Given the description of an element on the screen output the (x, y) to click on. 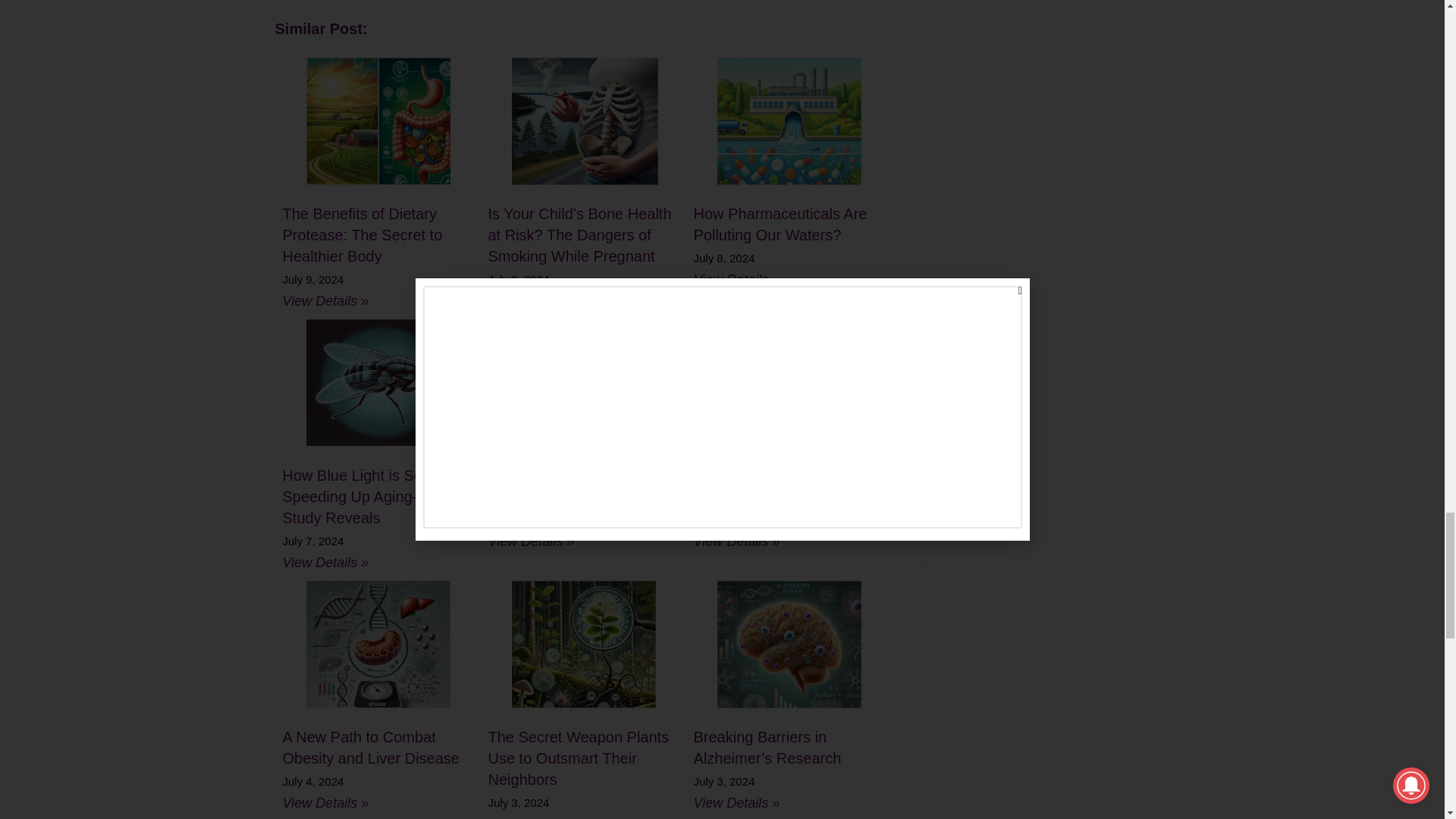
How Microbes Help Plants Shine Under Stress (785, 381)
How Pharmaceuticals Are Polluting Our Waters? (779, 224)
How Opioid Alters Brain Synapses Before Birth? (567, 485)
How Opioid Alters Brain Synapses Before Birth? (581, 381)
How Pharmaceuticals Are Polluting Our Waters? (785, 120)
A New Path to Combat Obesity and Liver Disease (375, 643)
The Secret Weapon Plants Use to Outsmart Their Neighbors (580, 643)
